Given the description of an element on the screen output the (x, y) to click on. 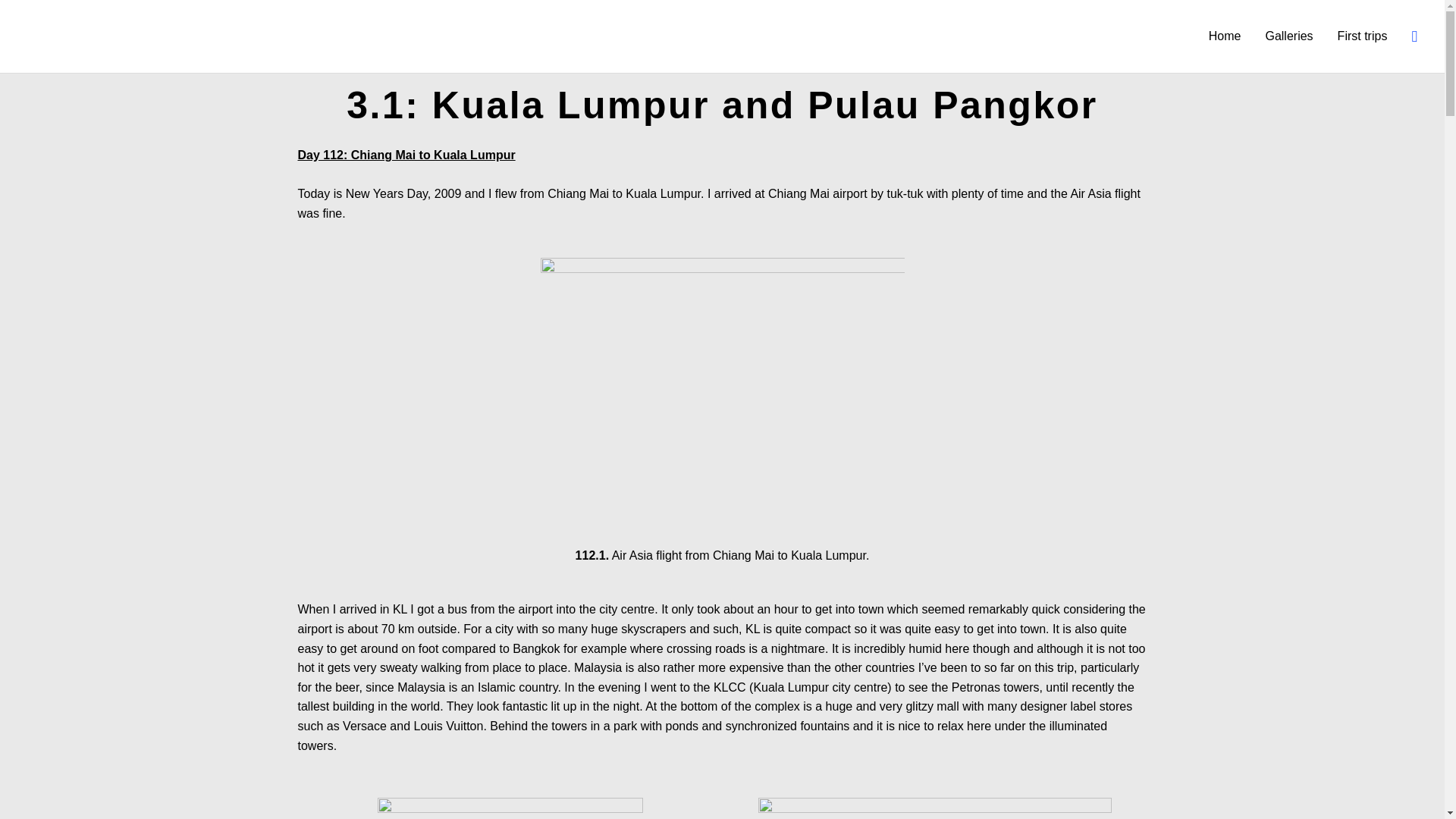
Home (1224, 36)
First trips (1361, 36)
Galleries (1288, 36)
